Given the description of an element on the screen output the (x, y) to click on. 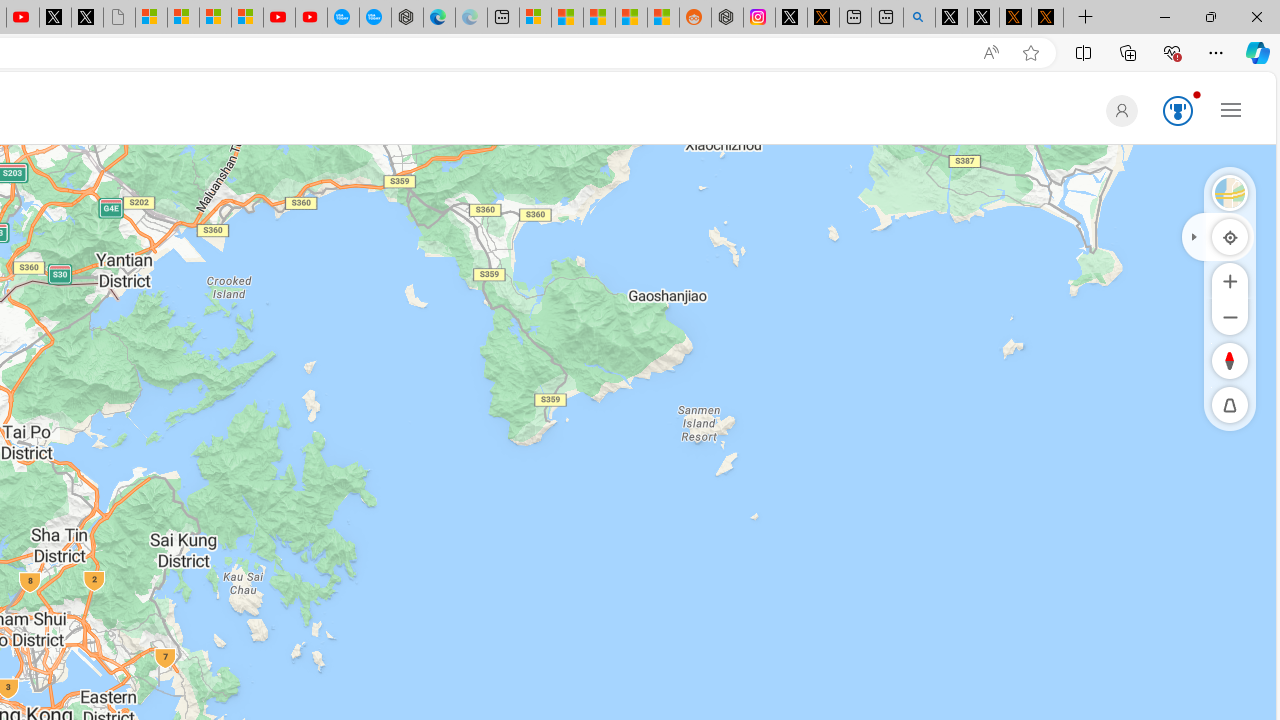
Shanghai, China Weather trends | Microsoft Weather (663, 17)
AutomationID: serp_medal_svg (1178, 110)
Locate me (1230, 236)
Zoom In (1230, 280)
Gloom - YouTube (279, 17)
Nordace - Nordace has arrived Hong Kong (407, 17)
